Given the description of an element on the screen output the (x, y) to click on. 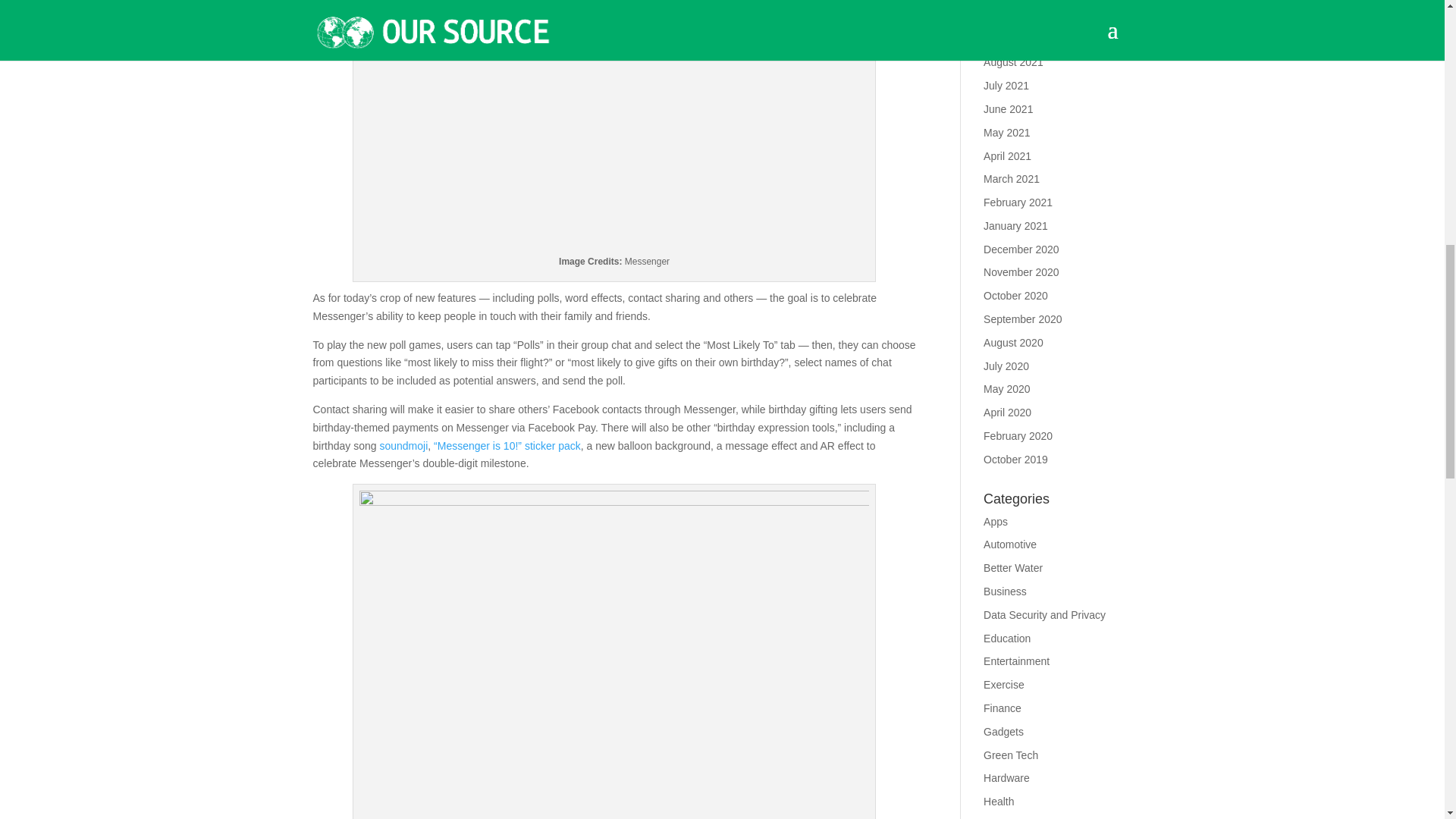
soundmoji (403, 445)
